Given the description of an element on the screen output the (x, y) to click on. 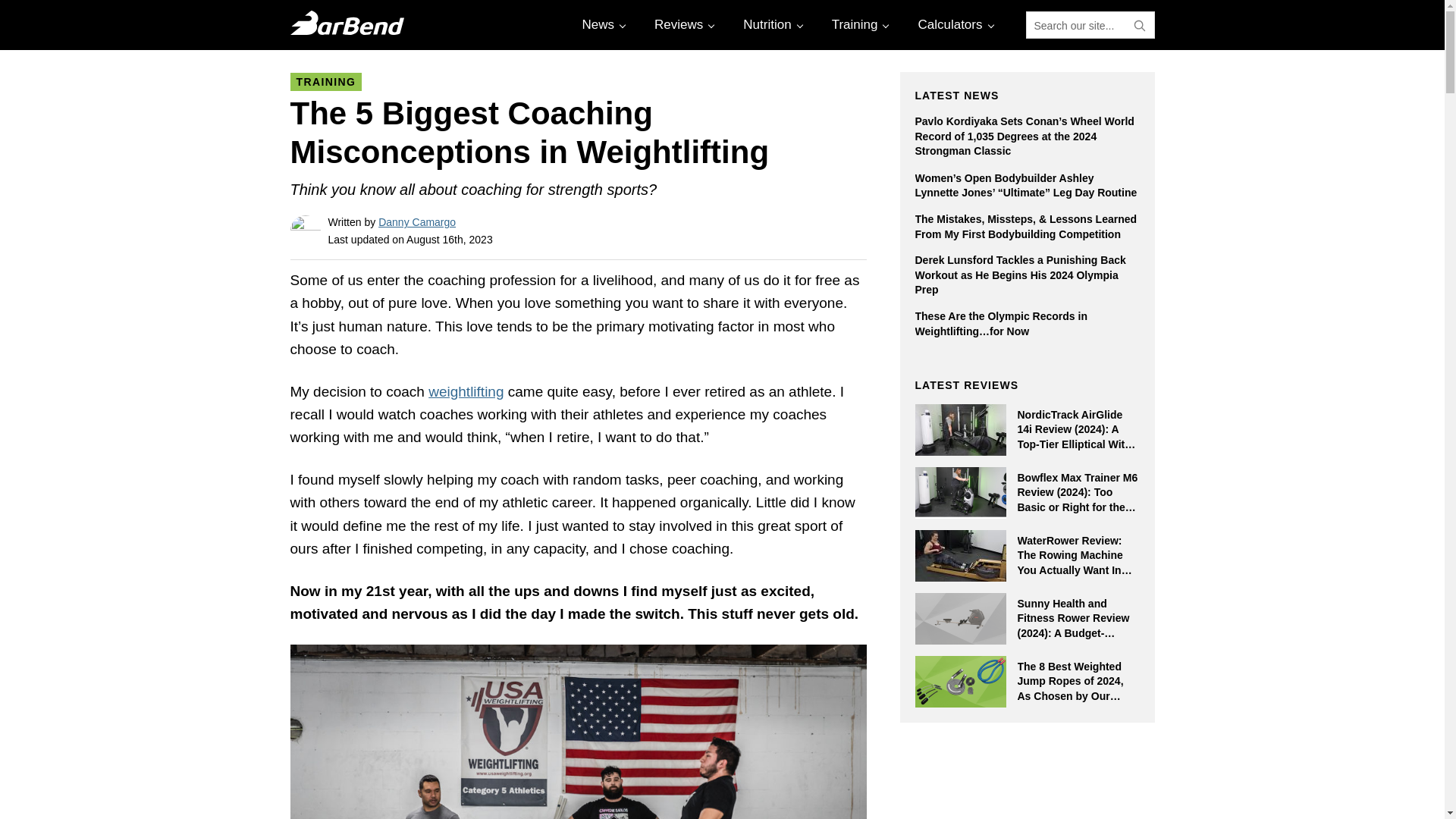
Reviews (682, 24)
News (602, 24)
